Given the description of an element on the screen output the (x, y) to click on. 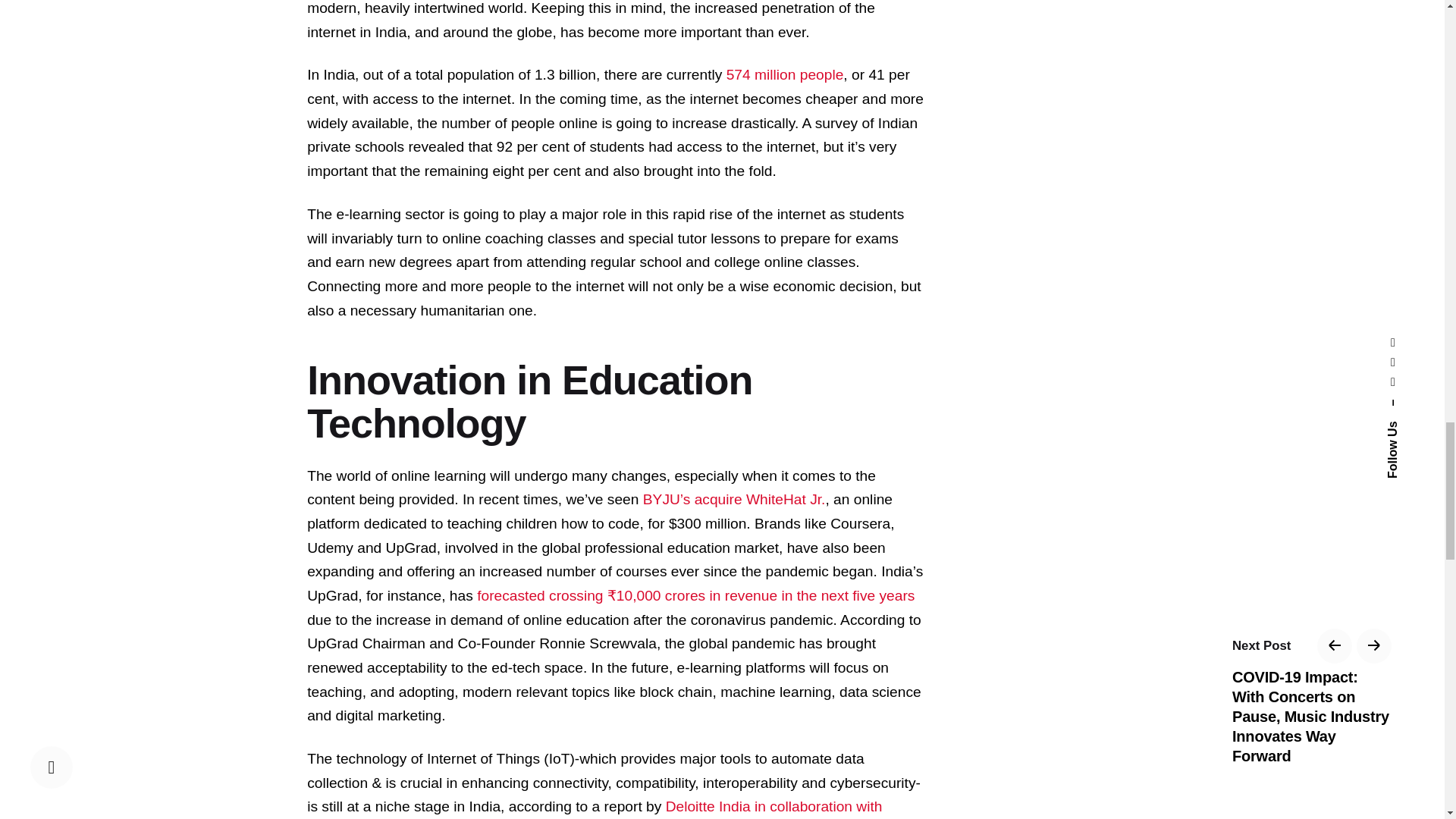
574 million people (785, 74)
